Given the description of an element on the screen output the (x, y) to click on. 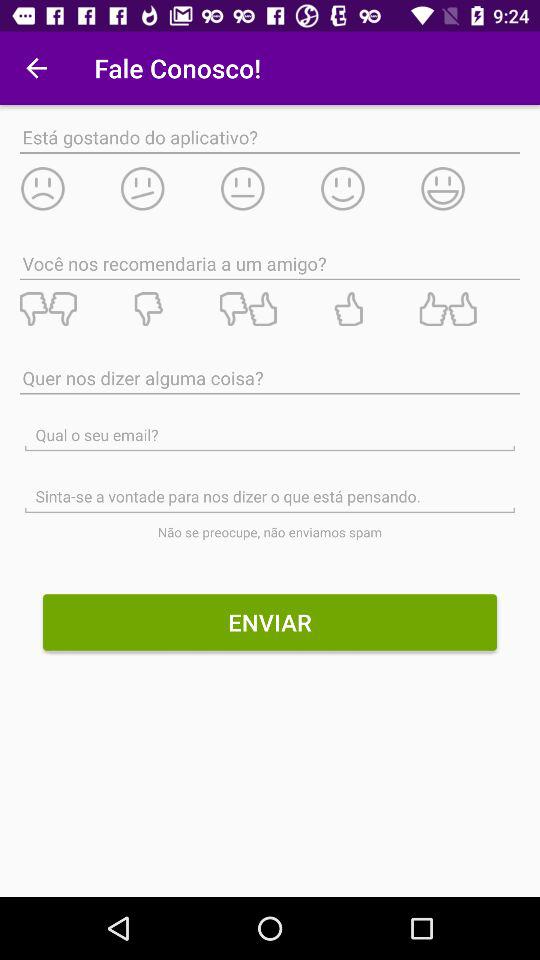
pick the middle emoji (269, 188)
